Given the description of an element on the screen output the (x, y) to click on. 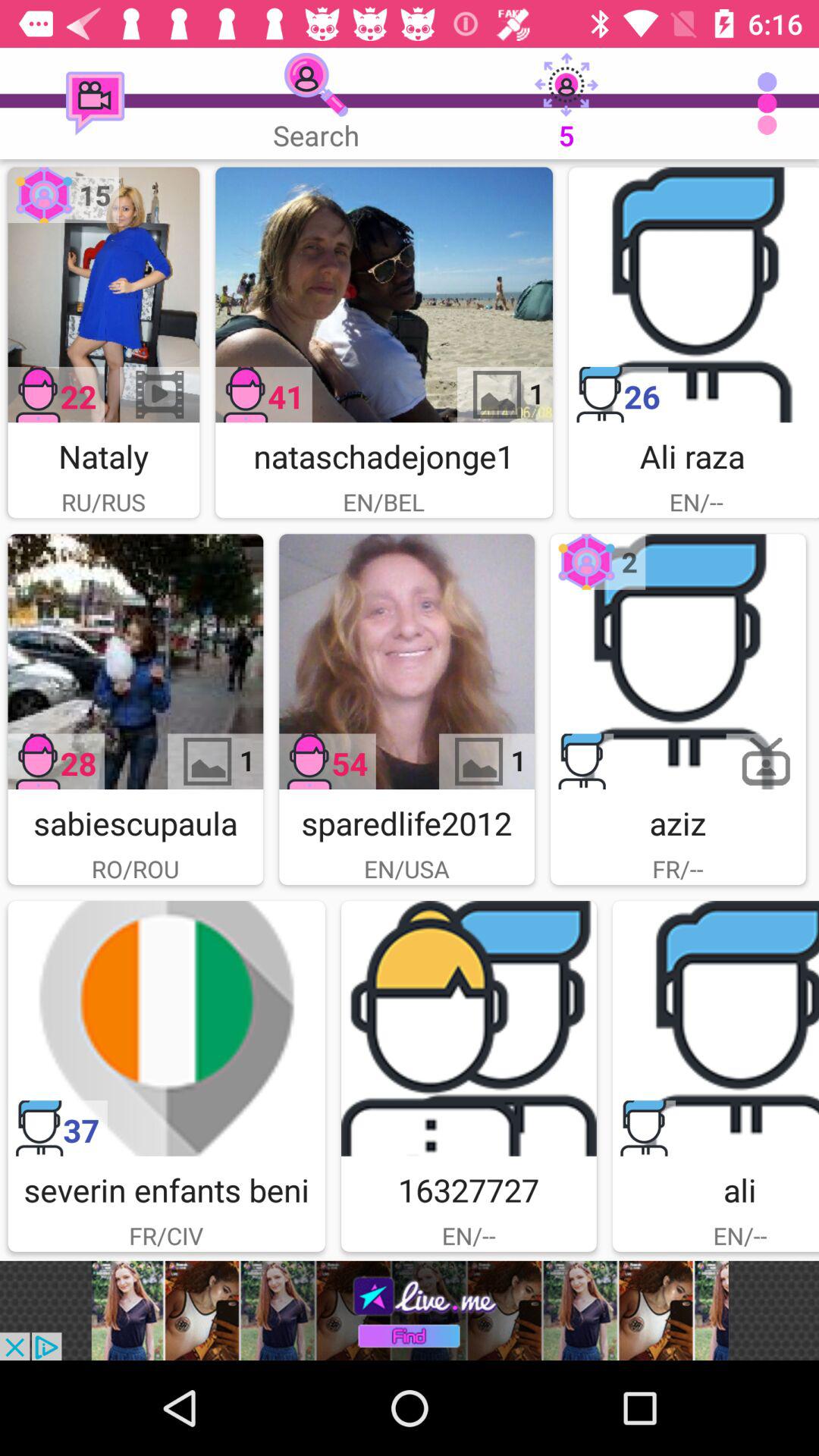
profile picture (677, 661)
